Given the description of an element on the screen output the (x, y) to click on. 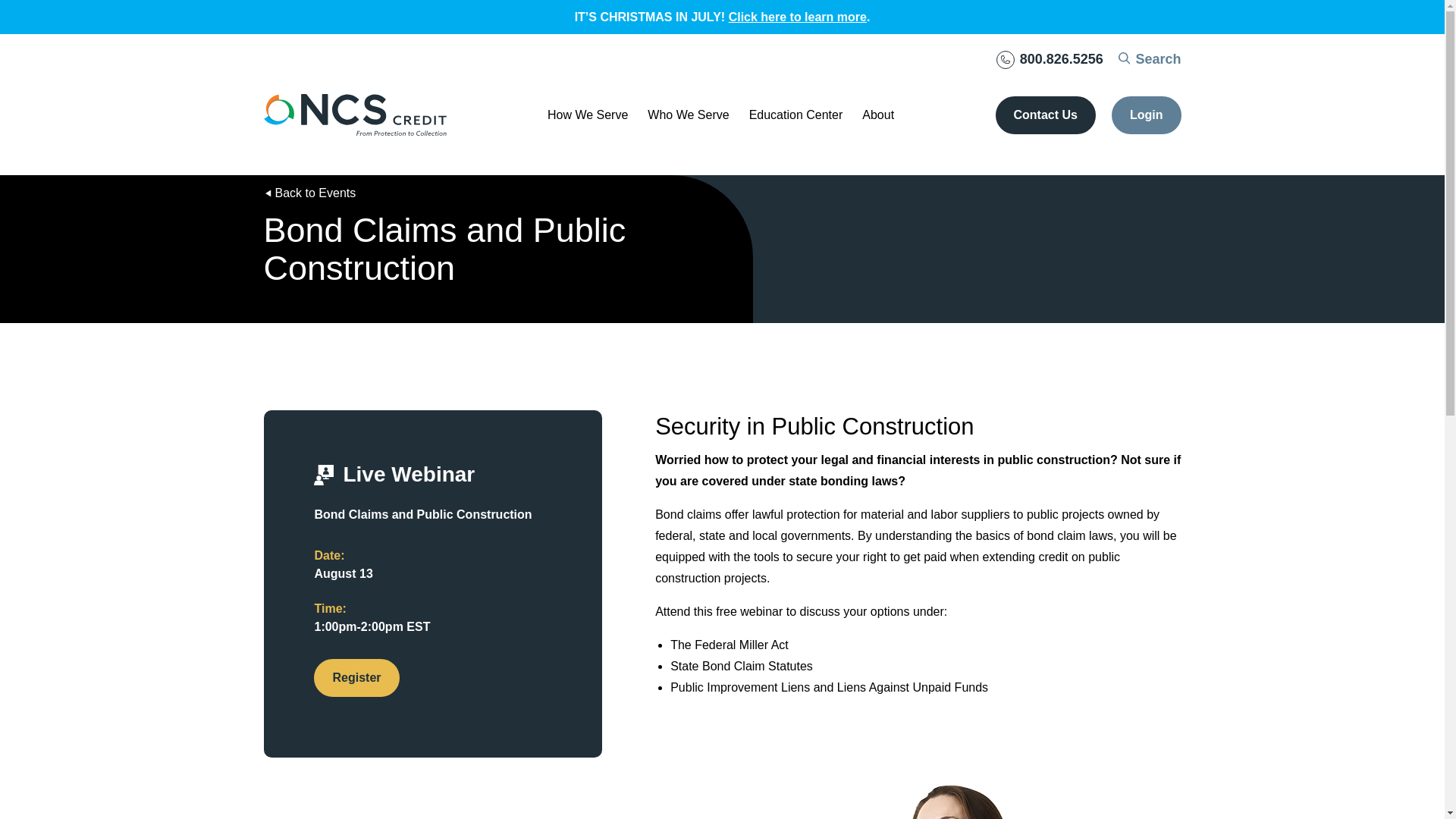
Click here to learn more (797, 16)
How We Serve (587, 114)
Who We Serve (688, 114)
